Given the description of an element on the screen output the (x, y) to click on. 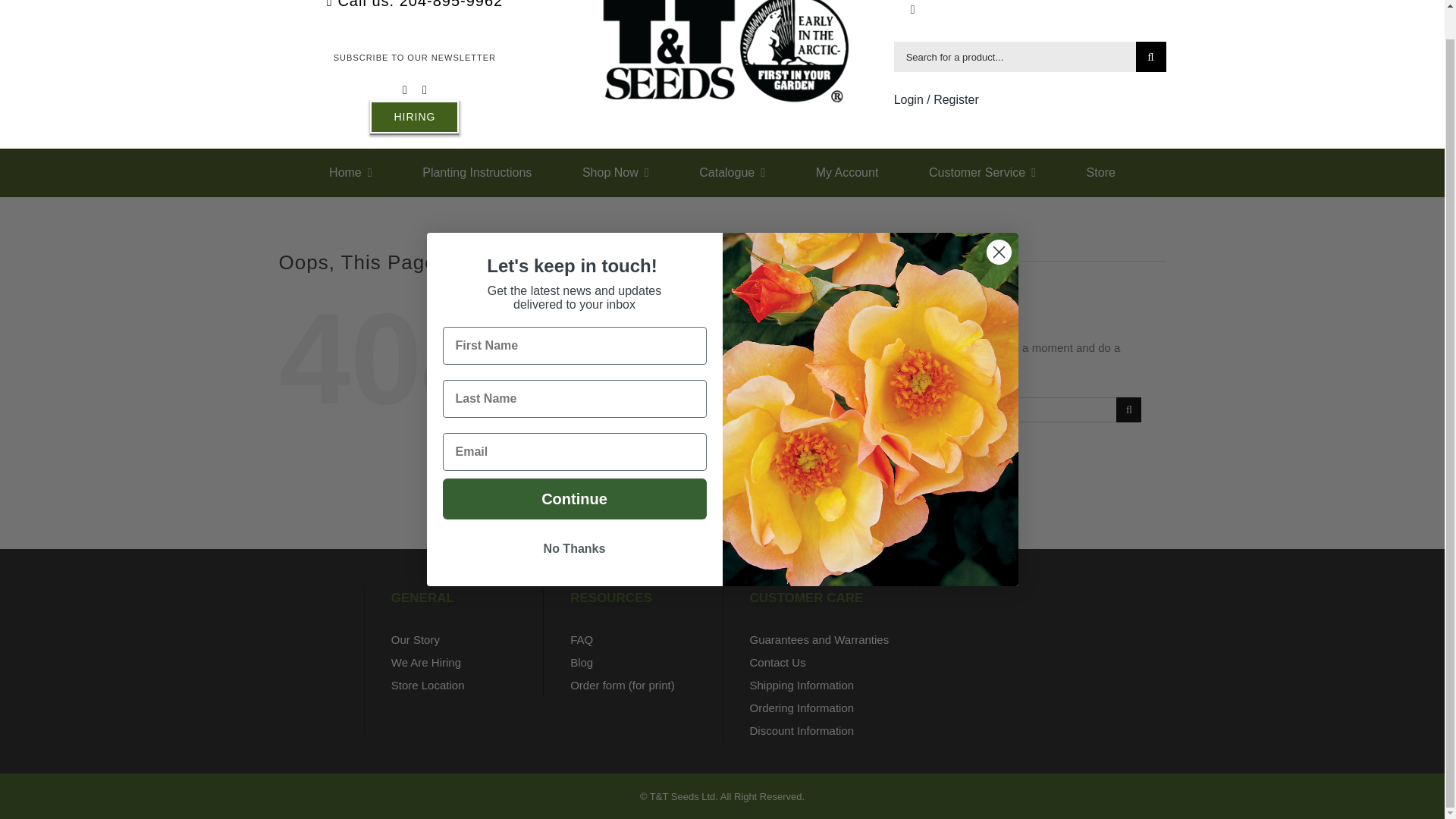
Home (350, 172)
Shop Now (615, 172)
SUBSCRIBE TO OUR NEWSLETTER (414, 57)
Catalogue (731, 172)
Close dialog 1 (998, 221)
Call us: 204-895-9962 (414, 6)
HIRING (413, 116)
Planting Instructions (476, 172)
